Given the description of an element on the screen output the (x, y) to click on. 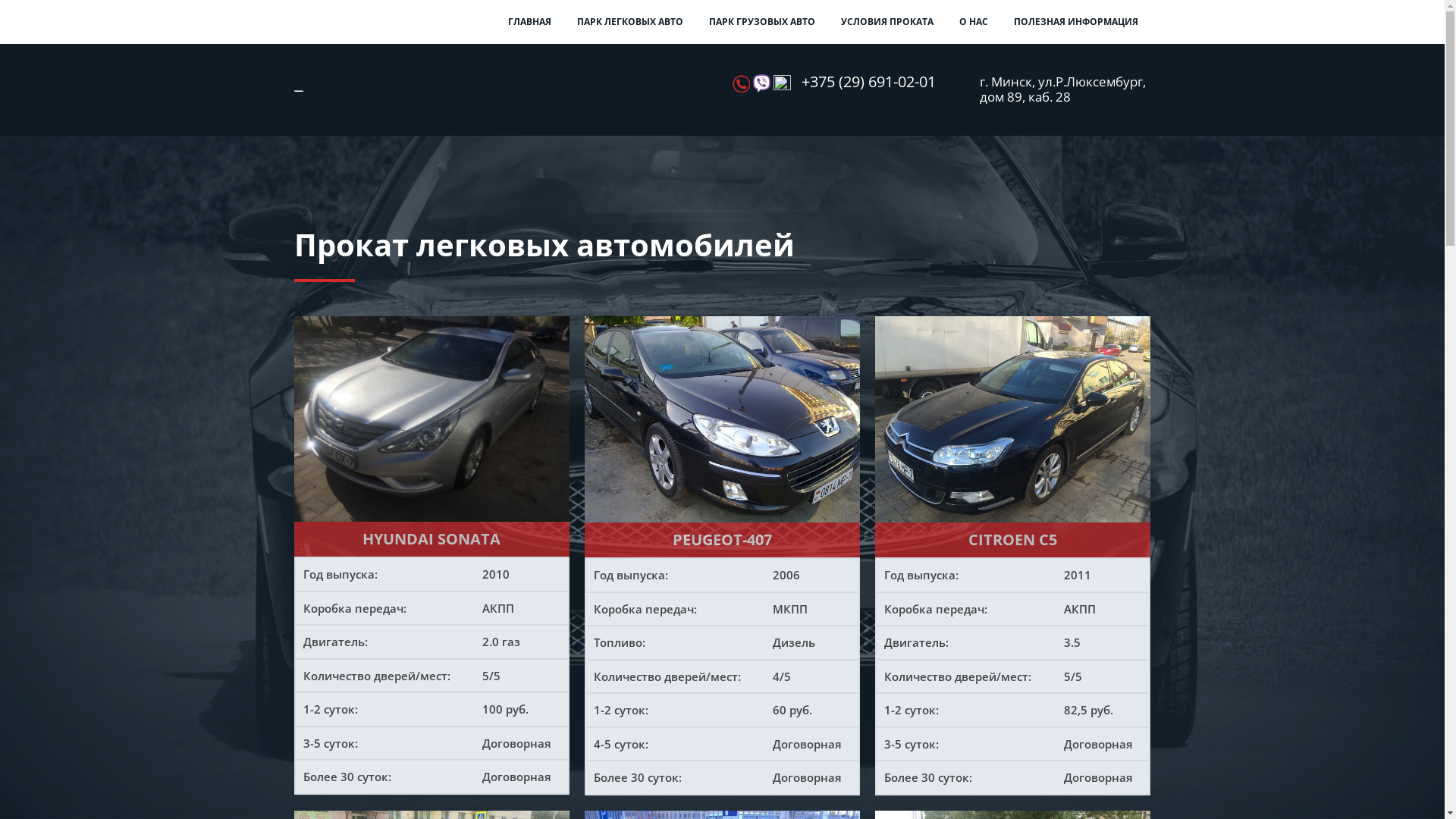
+375 (29) 691-02-01 Element type: text (868, 82)
